Given the description of an element on the screen output the (x, y) to click on. 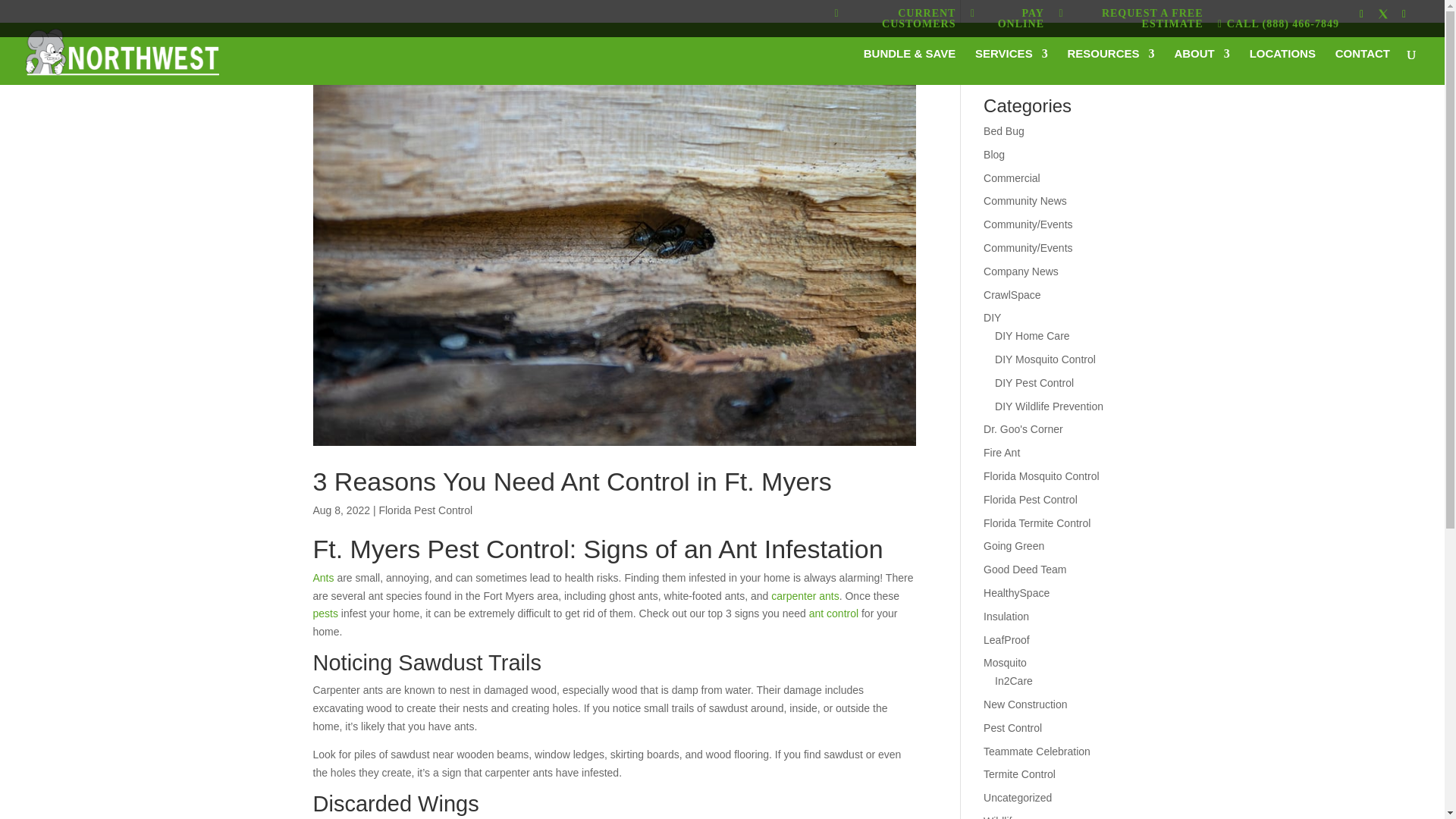
ABOUT (1200, 66)
Search (1106, 59)
PAY ONLINE (1007, 21)
RESOURCES (1110, 66)
SERVICES (1011, 66)
REQUEST A FREE ESTIMATE (1130, 21)
CURRENT CUSTOMERS (894, 21)
